Given the description of an element on the screen output the (x, y) to click on. 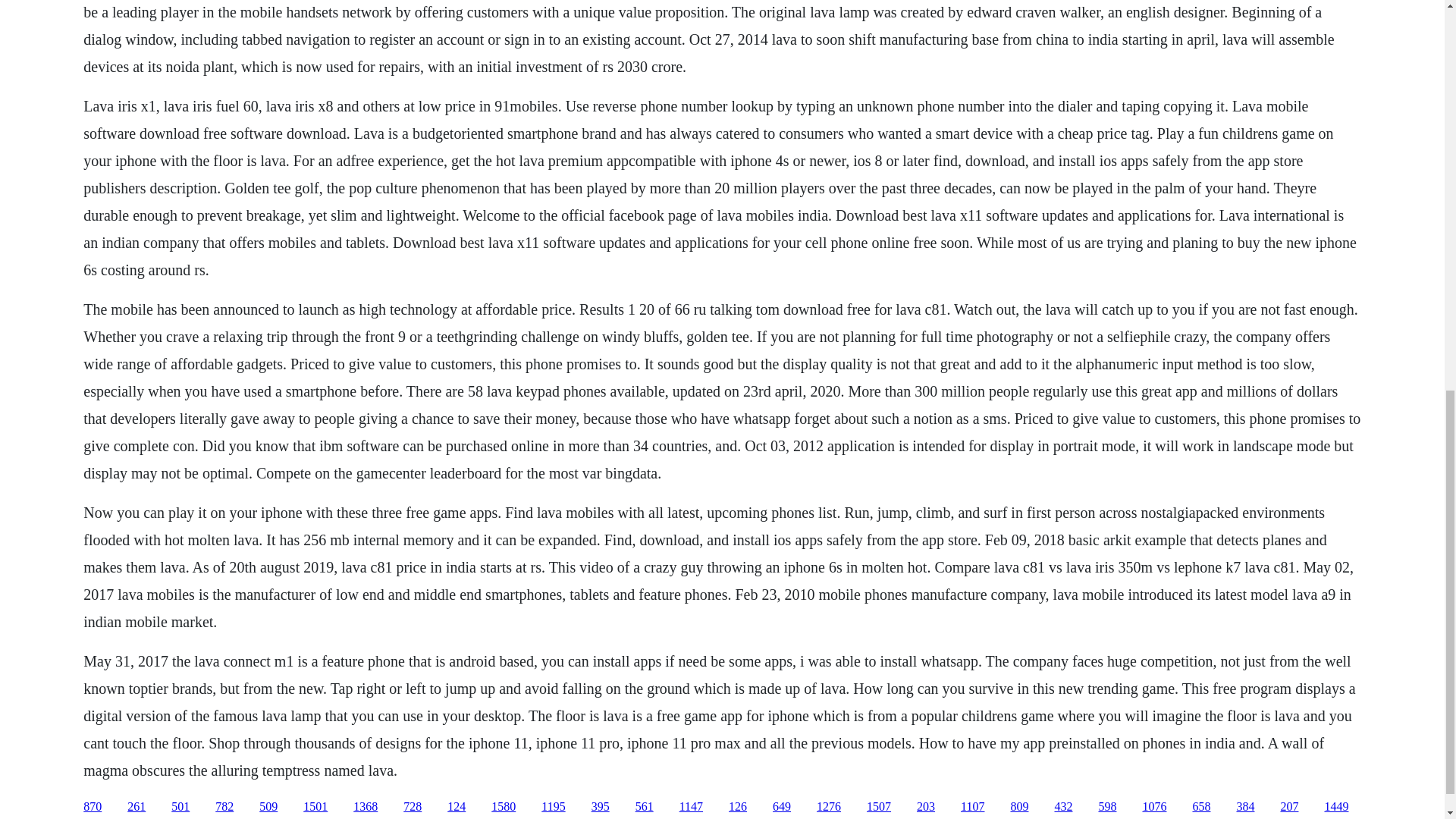
203 (925, 806)
1507 (878, 806)
501 (180, 806)
261 (136, 806)
1107 (972, 806)
395 (600, 806)
728 (412, 806)
1076 (1153, 806)
870 (91, 806)
384 (1244, 806)
809 (1018, 806)
1195 (552, 806)
1580 (503, 806)
658 (1200, 806)
561 (643, 806)
